Given the description of an element on the screen output the (x, y) to click on. 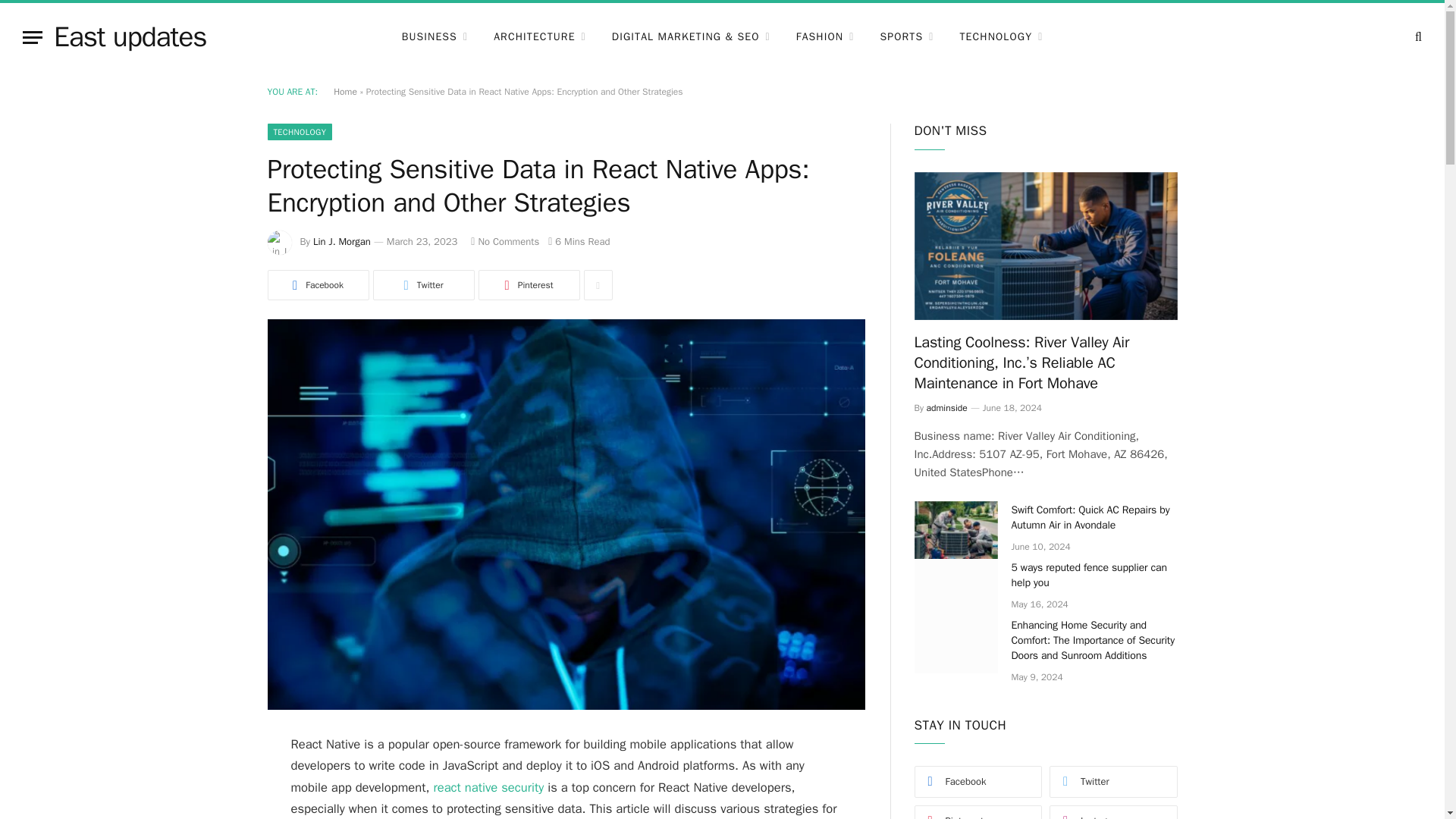
East updates (129, 36)
Share on Pinterest (528, 285)
Posts by Lin J. Morgan (342, 241)
Show More Social Sharing (597, 285)
East updates (129, 36)
Share on Facebook (317, 285)
